Given the description of an element on the screen output the (x, y) to click on. 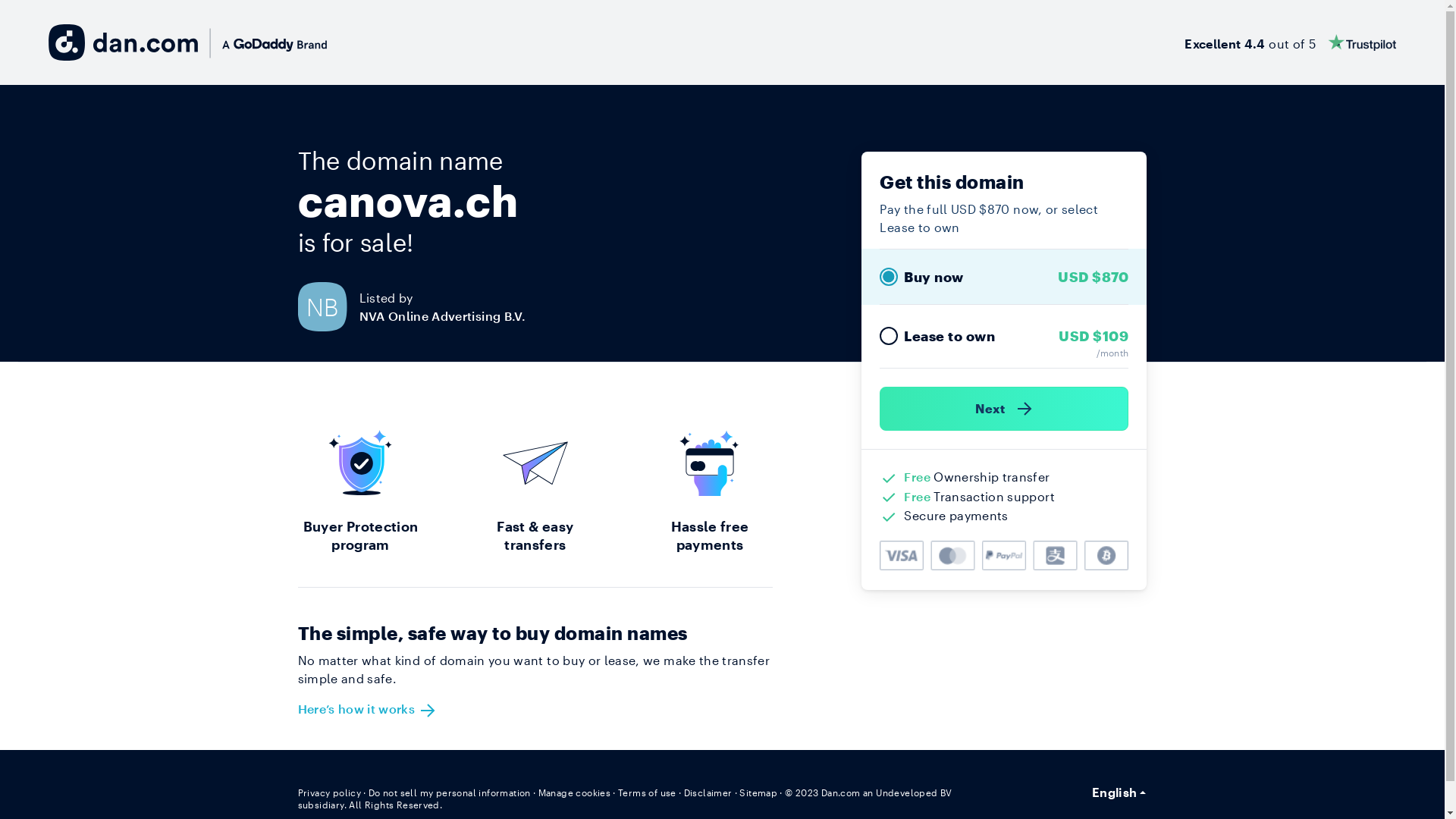
Privacy policy Element type: text (328, 792)
Excellent 4.4 out of 5 Element type: text (1290, 42)
Do not sell my personal information Element type: text (449, 792)
Manage cookies Element type: text (574, 792)
Sitemap Element type: text (758, 792)
Terms of use Element type: text (647, 792)
Next
) Element type: text (1003, 408)
English Element type: text (1119, 792)
Disclaimer Element type: text (708, 792)
